Given the description of an element on the screen output the (x, y) to click on. 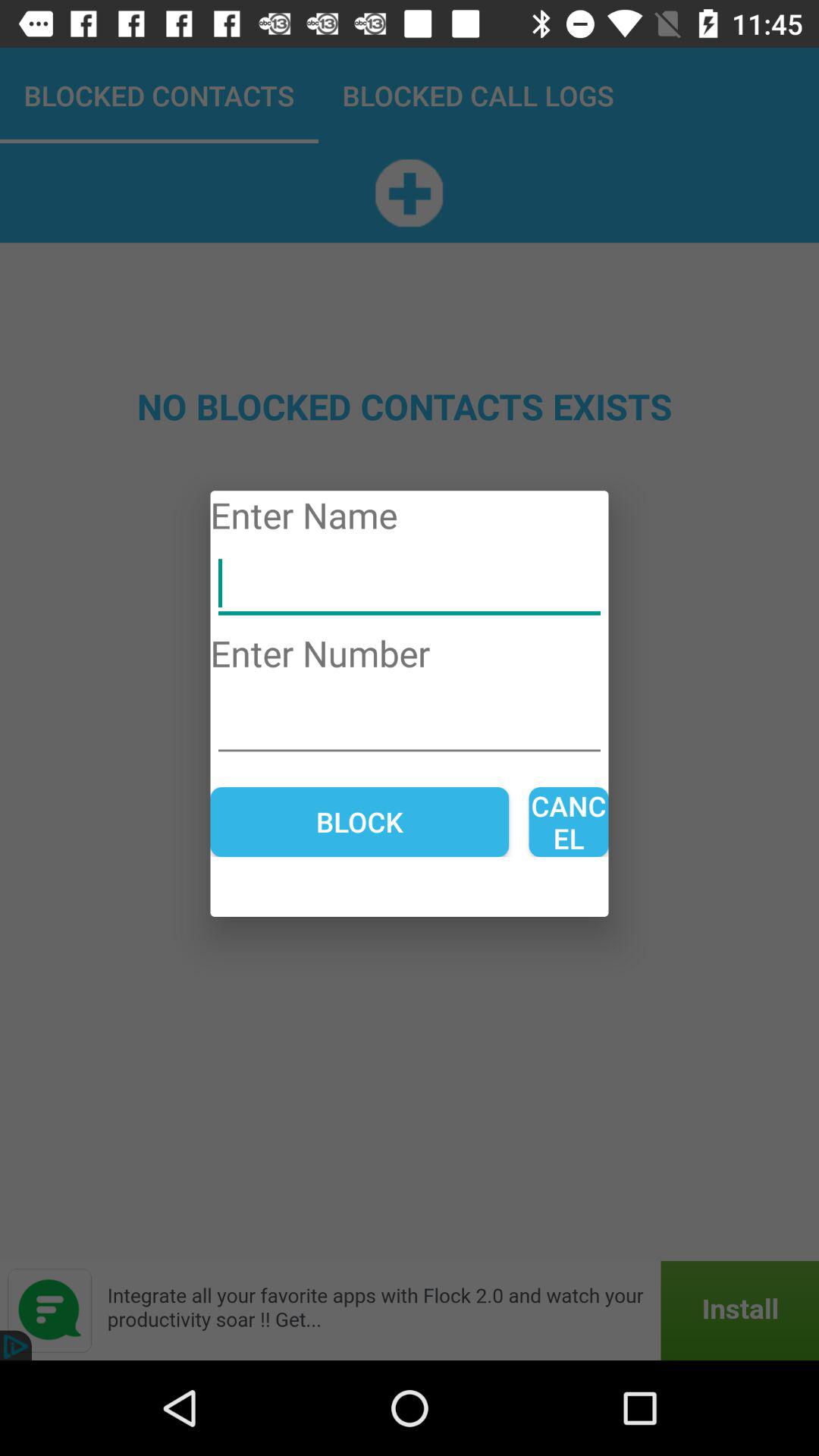
scroll until block (359, 822)
